Given the description of an element on the screen output the (x, y) to click on. 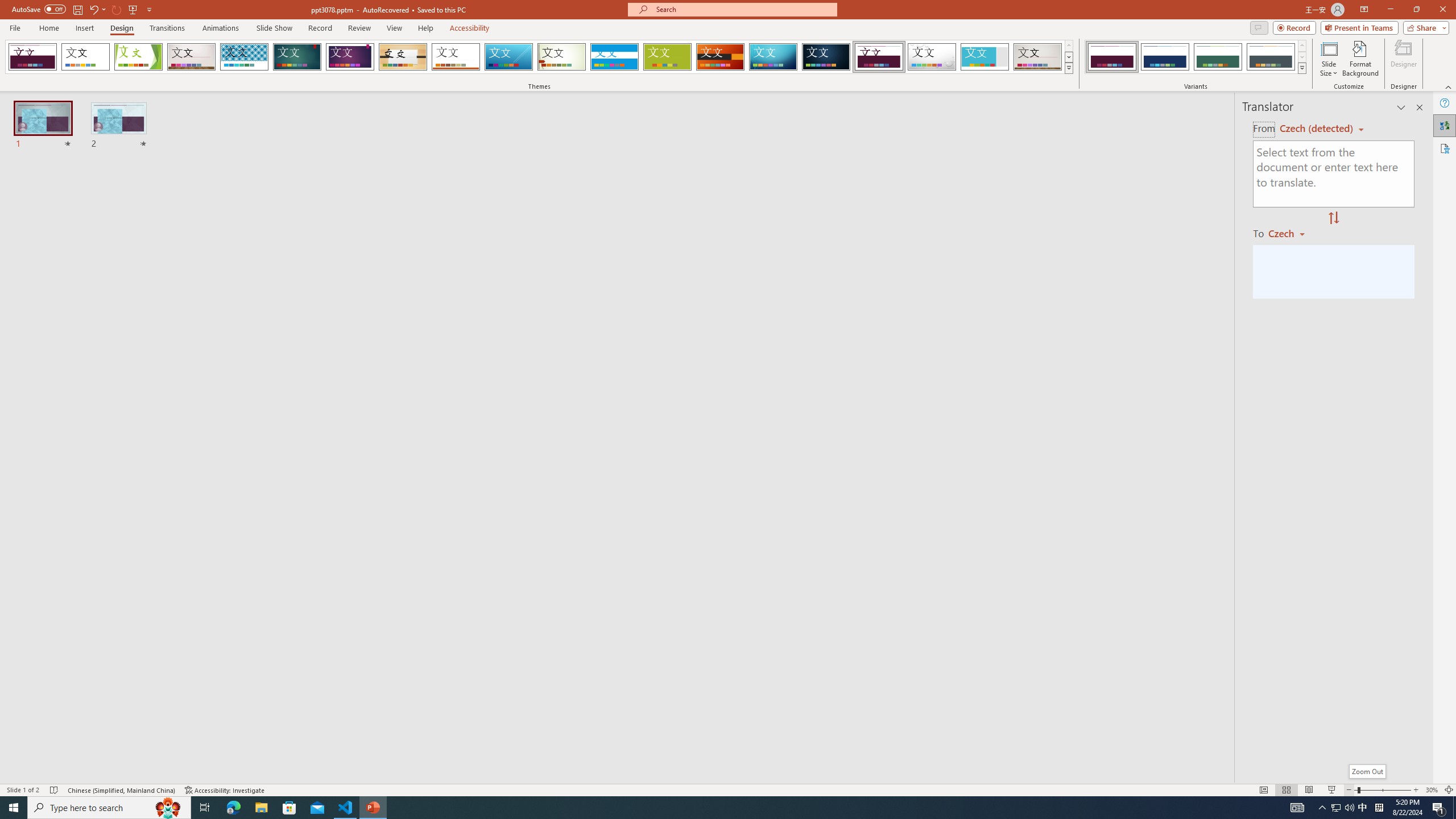
Dividend Variant 4 (1270, 56)
Dividend Variant 1 (1112, 56)
Banded (614, 56)
Organic (403, 56)
Office Theme (85, 56)
Berlin (720, 56)
